Given the description of an element on the screen output the (x, y) to click on. 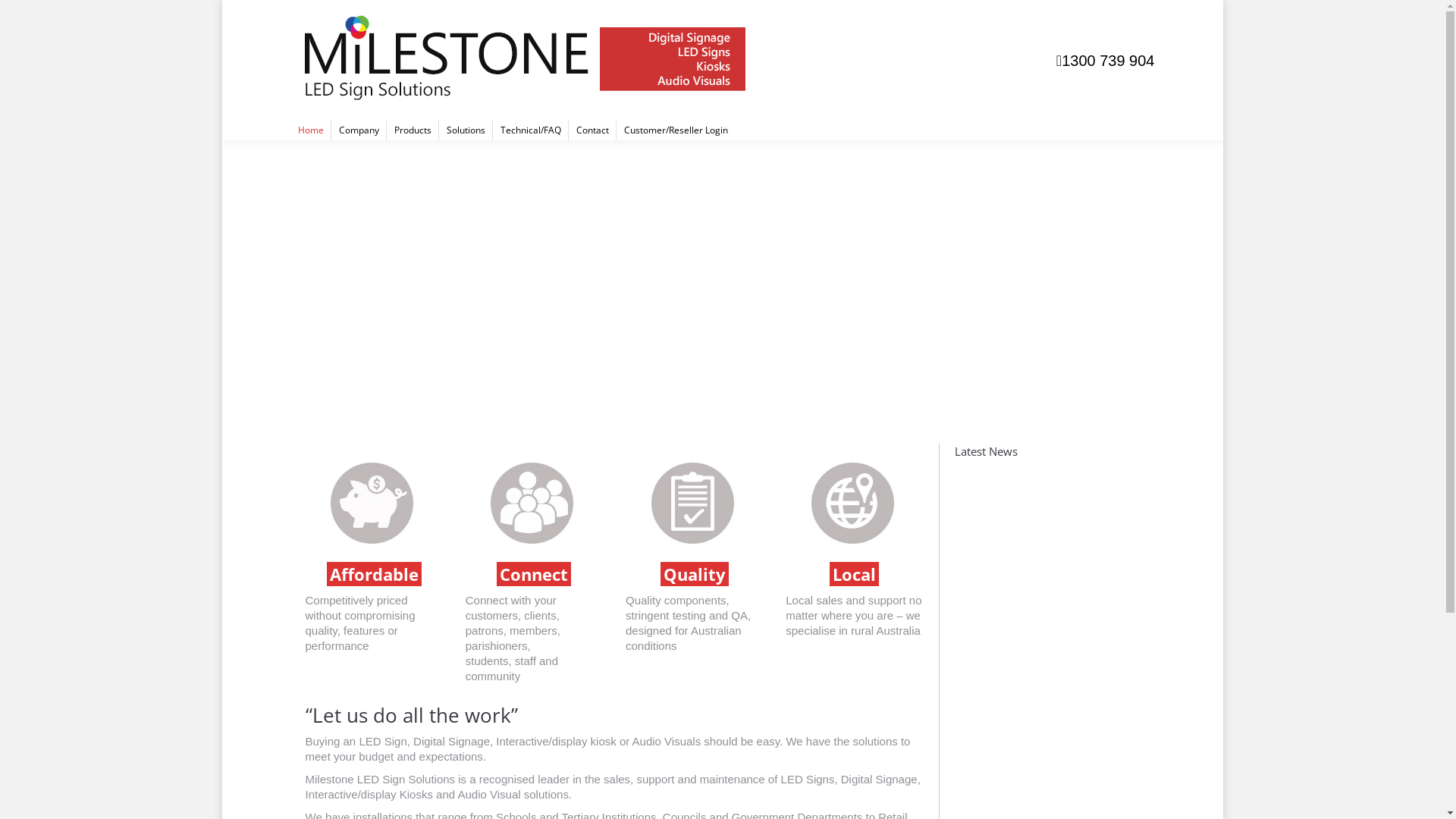
Technical/FAQ Element type: text (530, 130)
Home Element type: text (309, 130)
Solutions Element type: text (465, 130)
Products Element type: text (412, 130)
Customer/Reseller Login Element type: text (674, 130)
Company Element type: text (357, 130)
Contact Element type: text (592, 130)
